Given the description of an element on the screen output the (x, y) to click on. 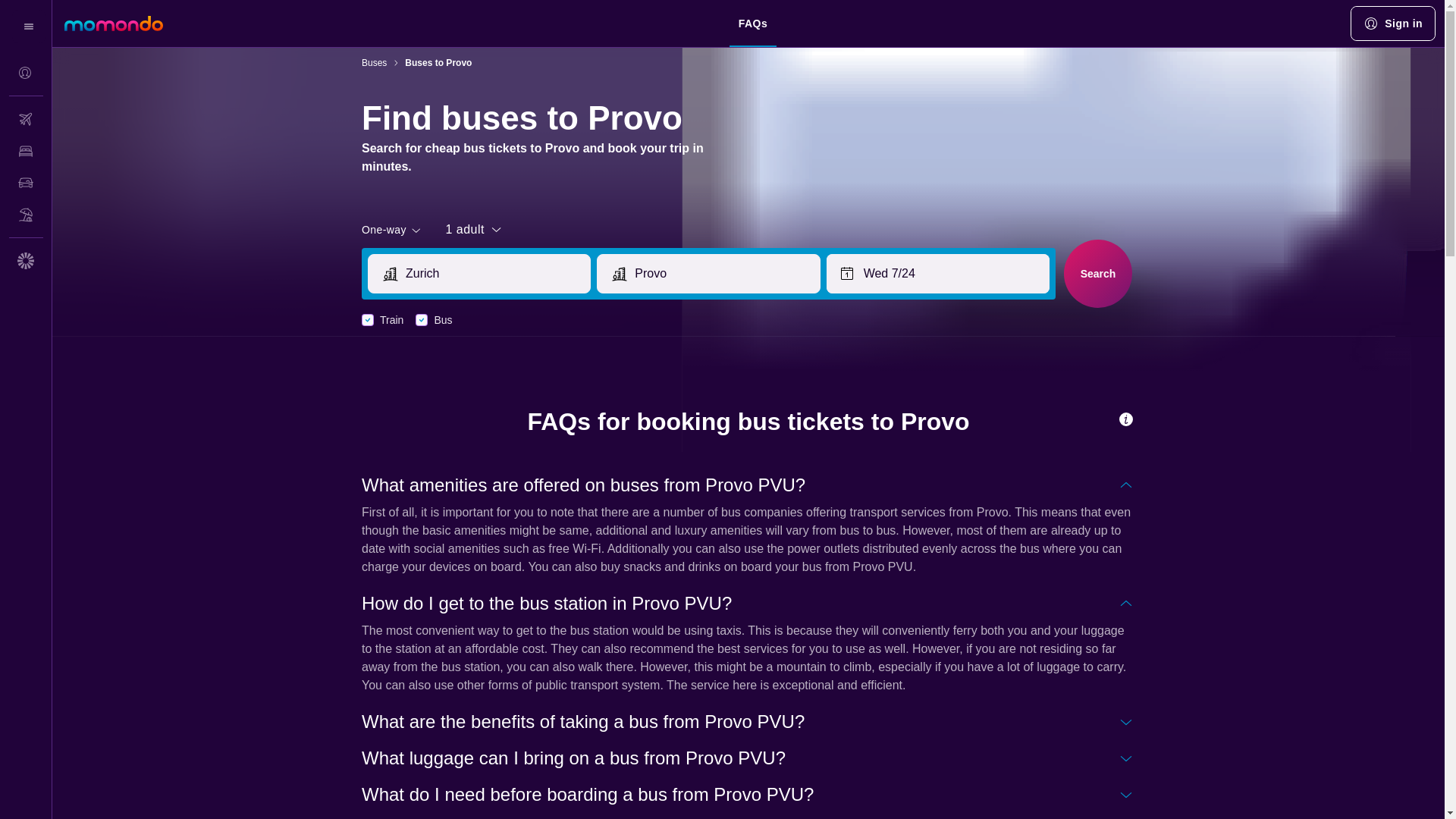
Search (1096, 273)
Zurich (493, 273)
Buses (374, 62)
Search (1098, 273)
Provo (723, 273)
